Given the description of an element on the screen output the (x, y) to click on. 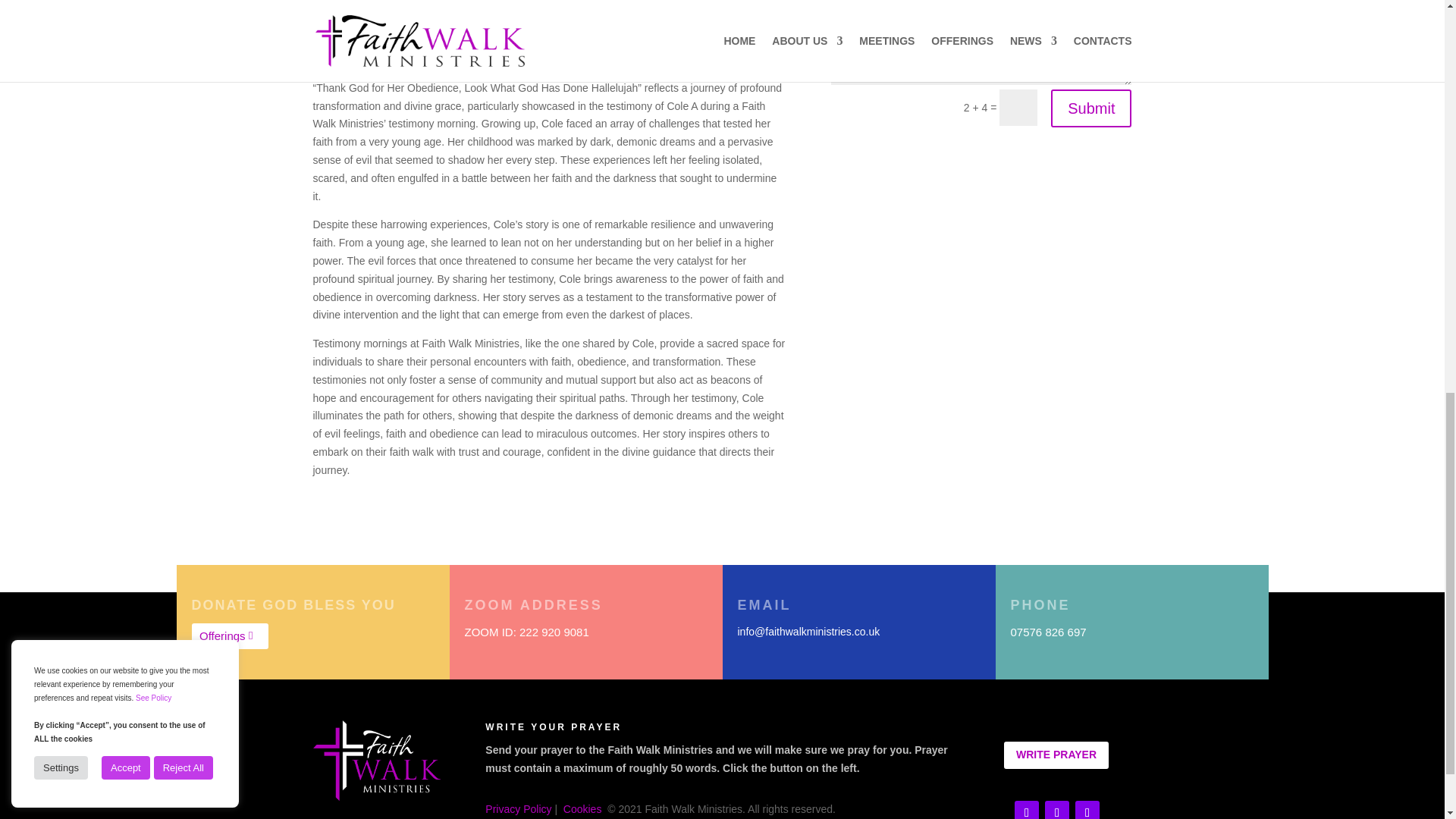
Follow on Youtube (1026, 809)
Follow on TikTok (1056, 809)
Cookies (582, 808)
Follow on Instagram (1087, 809)
Privacy Policy (517, 808)
logo-v3-bwsq (376, 760)
Submit (1091, 108)
Offerings (228, 636)
WRITE PRAYER (1056, 755)
